Given the description of an element on the screen output the (x, y) to click on. 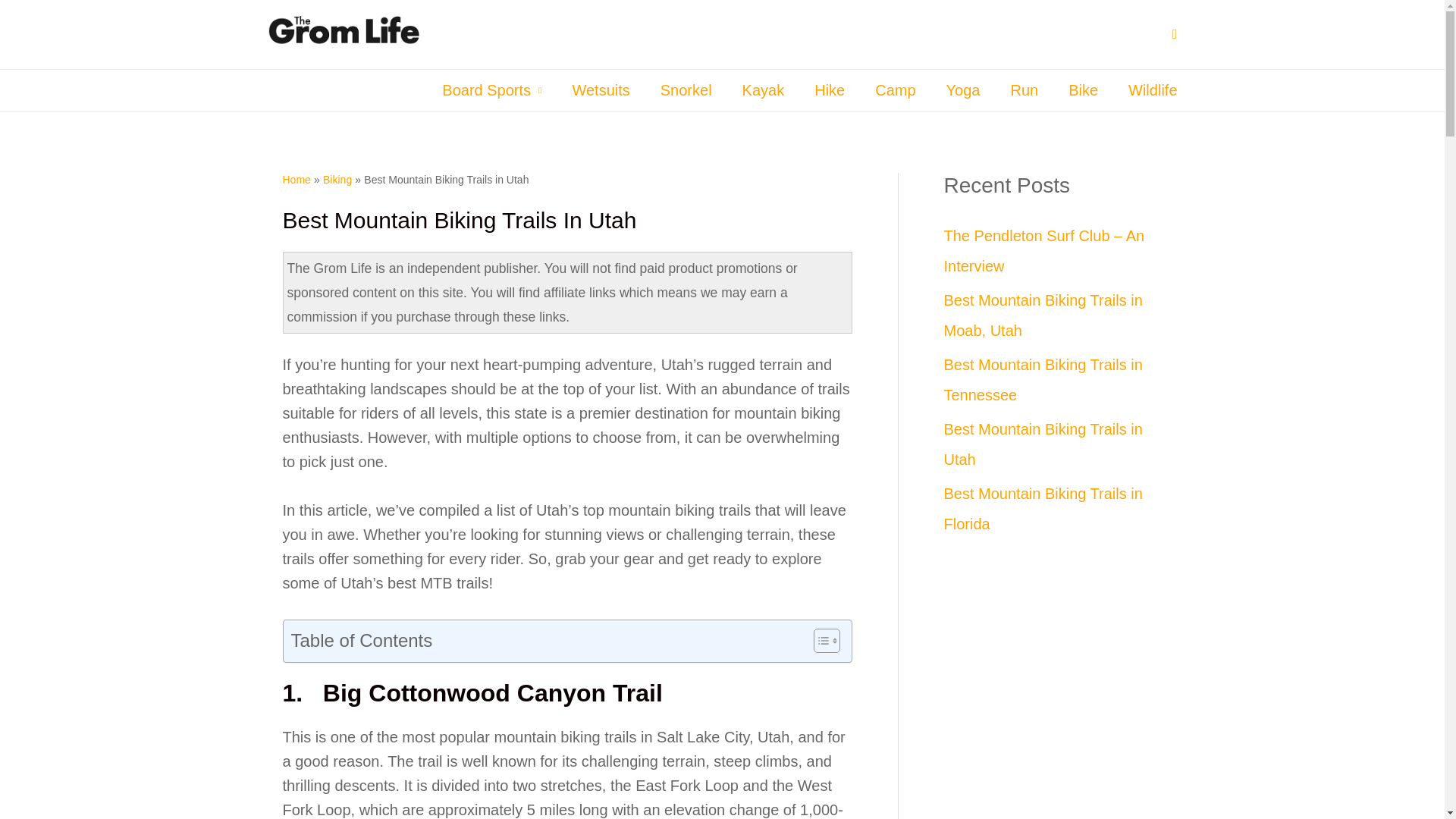
Board Sports (491, 90)
Hike (829, 90)
Home (296, 179)
Camp (895, 90)
Bike (1082, 90)
Yoga (963, 90)
Wetsuits (600, 90)
Run (1023, 90)
Kayak (762, 90)
Snorkel (685, 90)
